Given the description of an element on the screen output the (x, y) to click on. 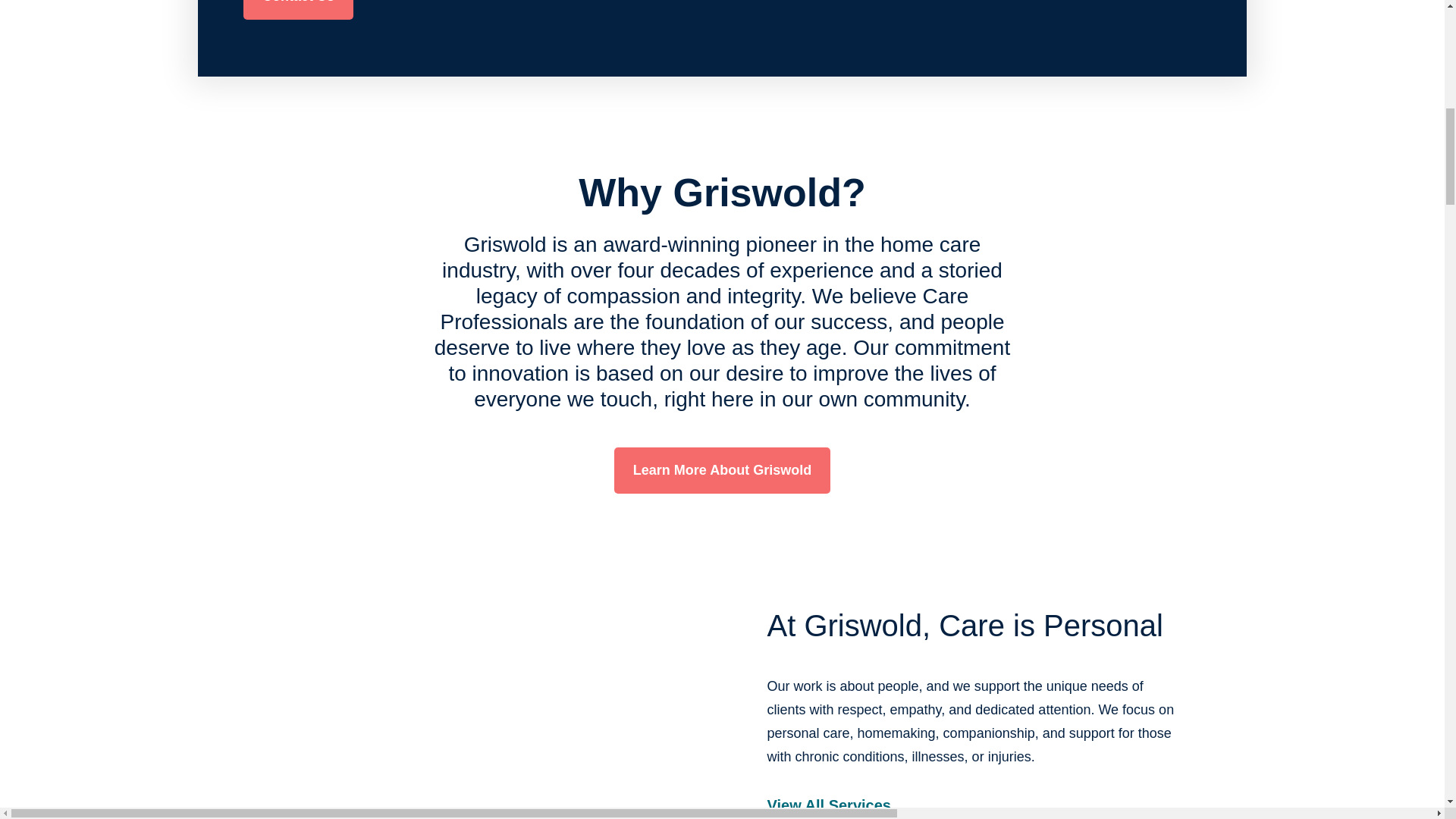
Learn More About Griswold (721, 470)
View All Services (829, 807)
Contact Us (298, 9)
